Given the description of an element on the screen output the (x, y) to click on. 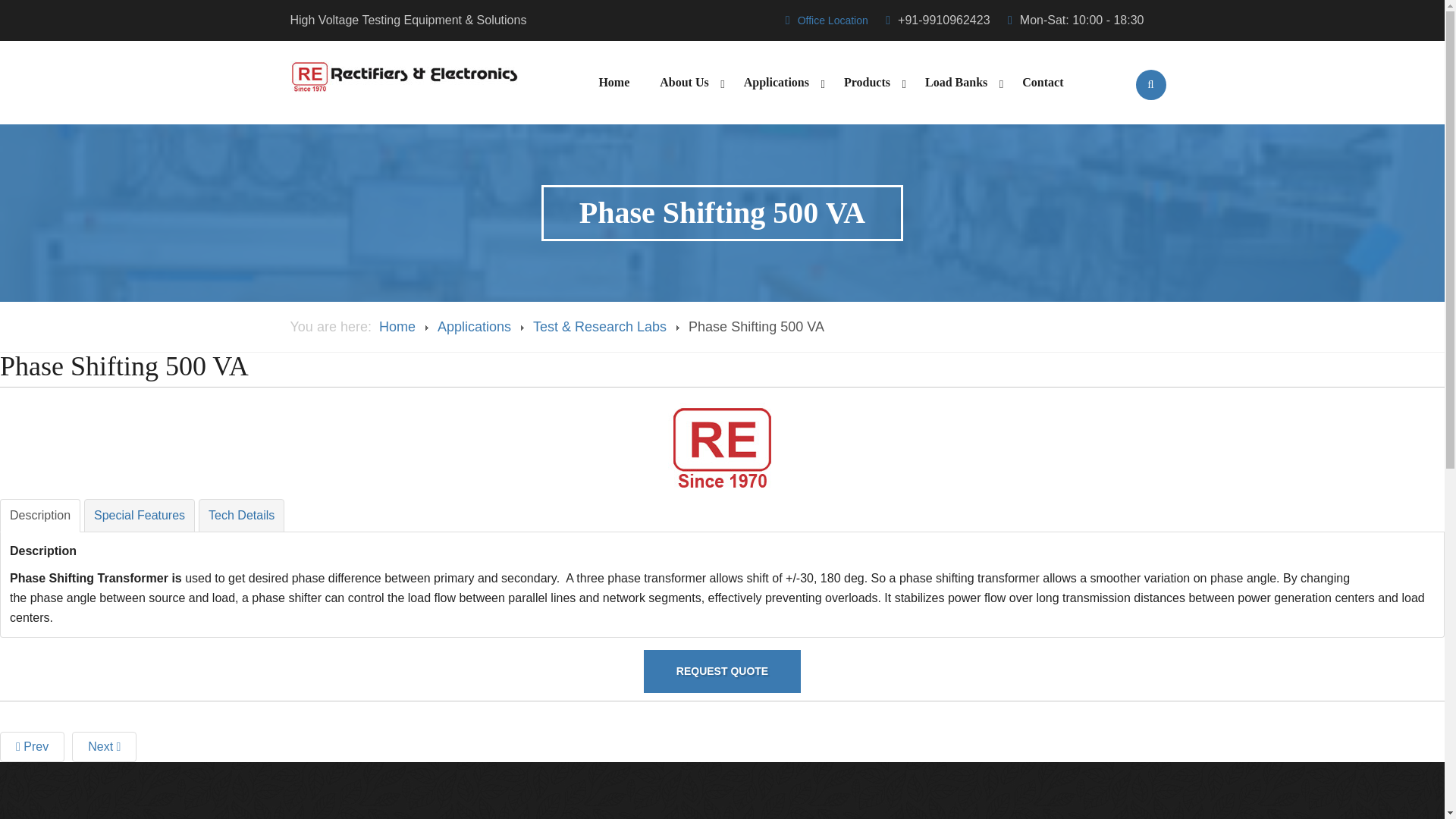
Office Location (832, 20)
